Given the description of an element on the screen output the (x, y) to click on. 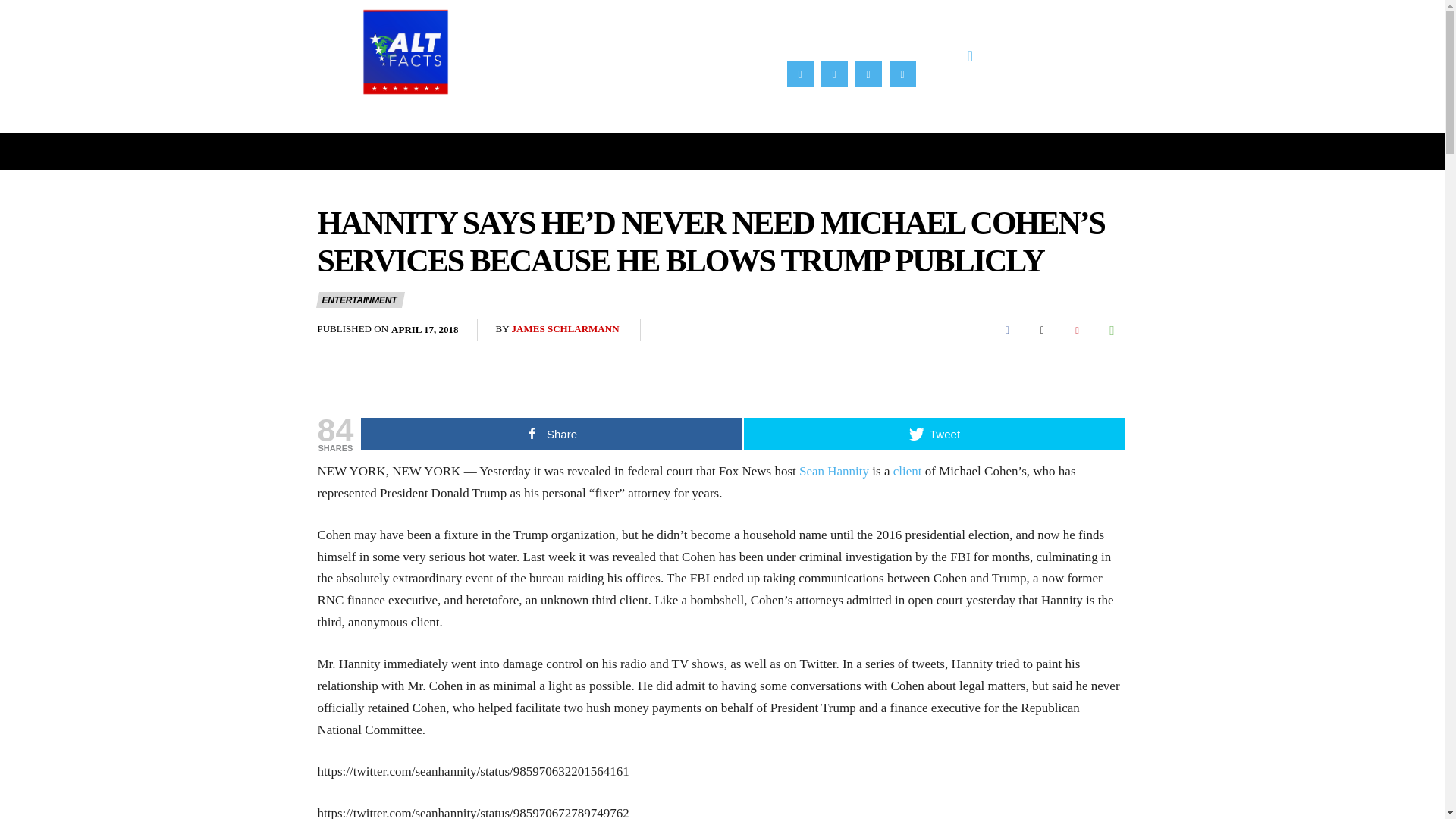
Sean Hannity (834, 471)
TikTok (869, 73)
Twitter (901, 73)
JAMES SCHLARMANN (566, 328)
ENTERTAINMENT (360, 299)
Instagram (834, 73)
Facebook (800, 73)
client (907, 471)
Twitter (1041, 330)
Facebook (1006, 330)
Share (551, 433)
Tweet (934, 433)
